Given the description of an element on the screen output the (x, y) to click on. 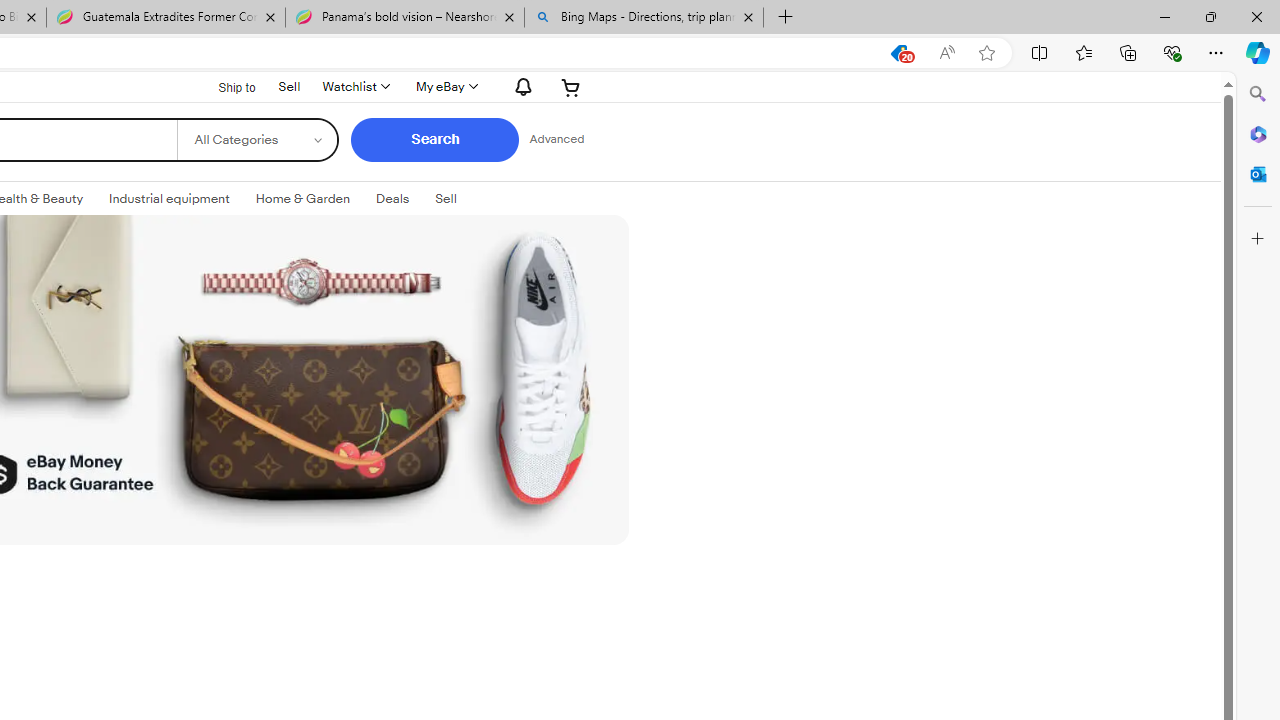
AutomationID: gh-eb-Alerts (520, 86)
Ship to (224, 85)
Home & GardenExpand: Home & Garden (302, 199)
Deals (392, 198)
Industrial equipment (169, 198)
Select a category for search (256, 139)
